Given the description of an element on the screen output the (x, y) to click on. 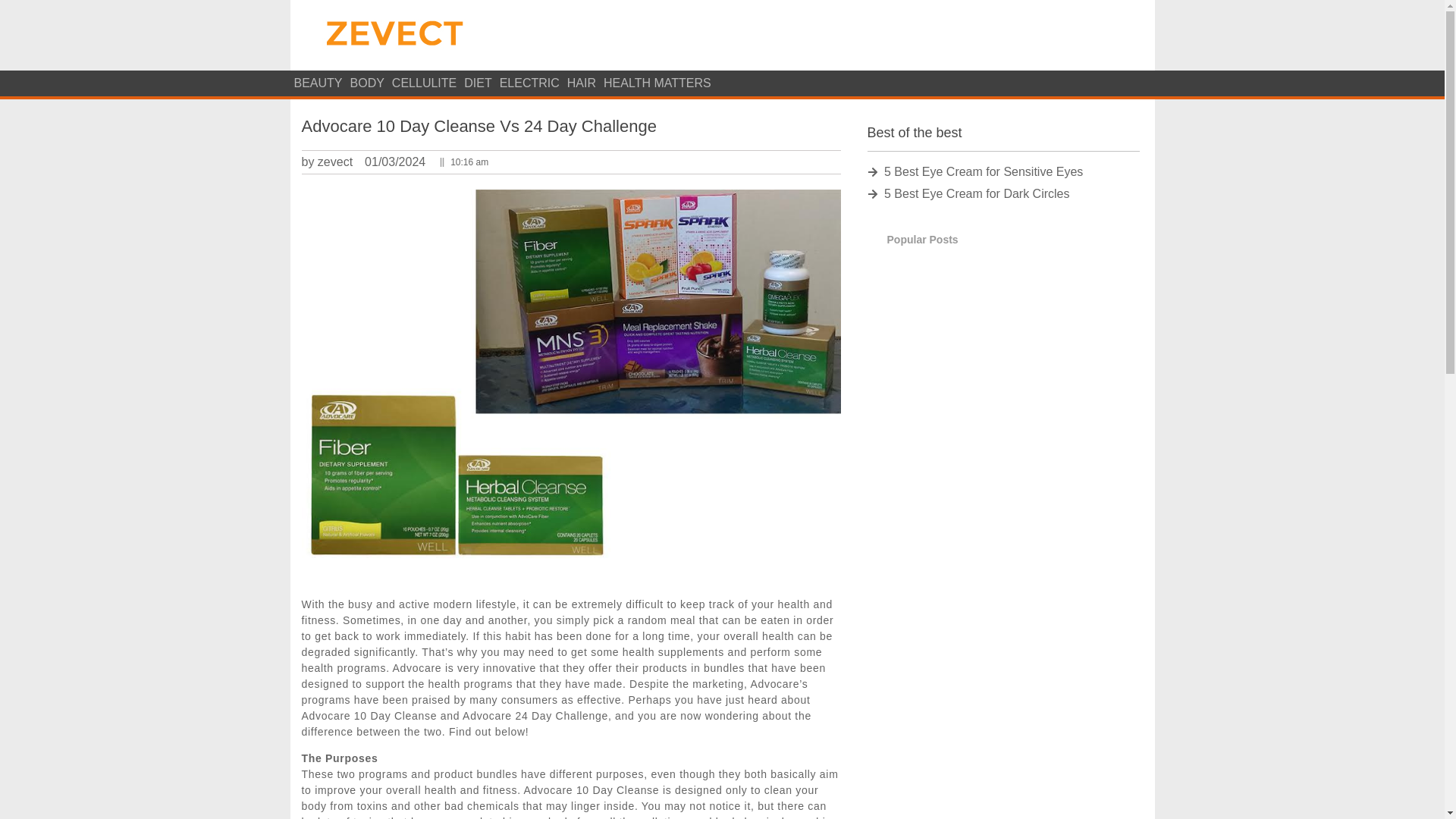
BEAUTY (317, 83)
by zevect (327, 162)
5 Best Eye Cream for Dark Circles (1003, 194)
CELLULITE (424, 83)
HEALTH MATTERS (656, 83)
DIET (477, 83)
BODY (367, 83)
5 Best Eye Cream for Sensitive Eyes (1003, 171)
ELECTRIC (529, 83)
HAIR (581, 83)
